Given the description of an element on the screen output the (x, y) to click on. 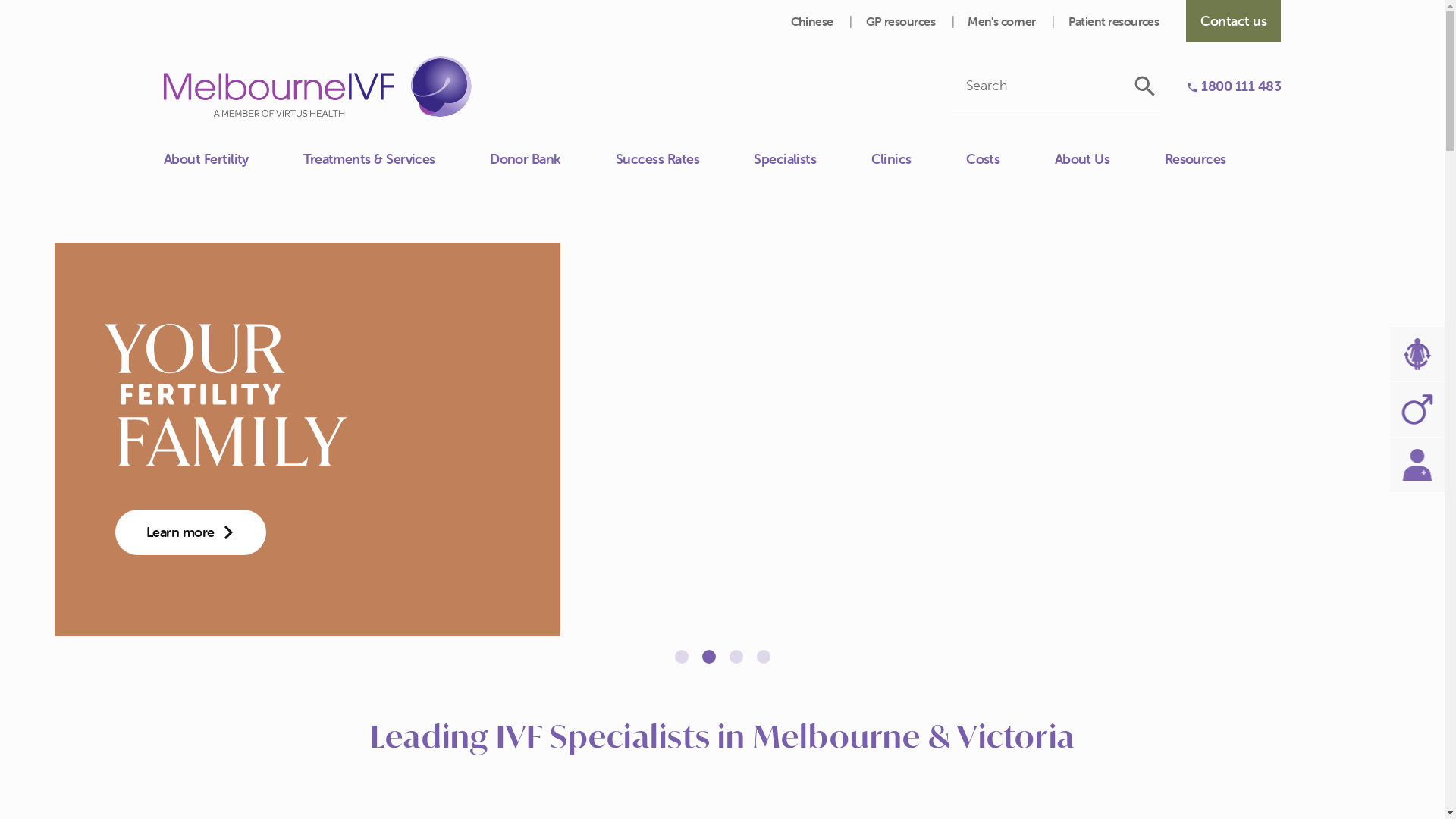
Men's corner Element type: text (1002, 20)
1800 111 483 Element type: text (1233, 85)
Chinese Element type: text (812, 20)
Success Rates Element type: text (684, 159)
About Fertility Element type: text (233, 159)
Jump to slide 3 Element type: text (736, 656)
Jump to slide 4 Element type: text (763, 656)
Jump to slide 1 Element type: text (681, 656)
About Us Element type: text (1109, 159)
Specialists Element type: text (811, 159)
Close Element type: text (163, 150)
Costs Element type: text (1010, 159)
Skip to main content Element type: text (0, 0)
Learn More Element type: text (190, 531)
Donor Bank Element type: text (552, 159)
Patient resources Element type: text (1113, 20)
GP resources Element type: text (902, 20)
Treatments & Services Element type: text (396, 159)
Contact us Element type: text (1233, 21)
Clinics Element type: text (918, 159)
Jump to slide 2 Element type: text (708, 656)
Resources Element type: text (1222, 159)
Contact us Element type: text (163, 166)
